Given the description of an element on the screen output the (x, y) to click on. 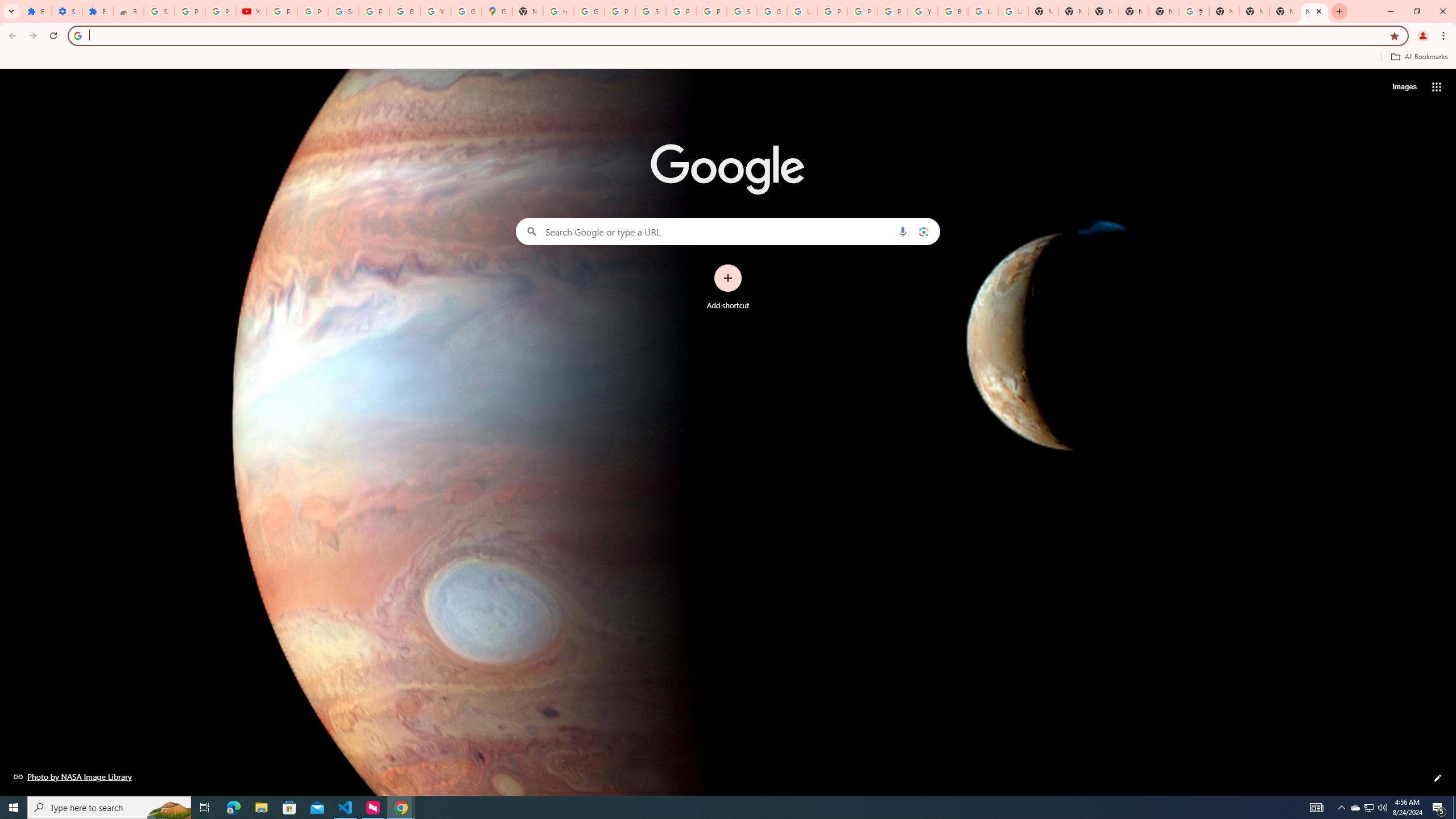
Settings (66, 11)
